Given the description of an element on the screen output the (x, y) to click on. 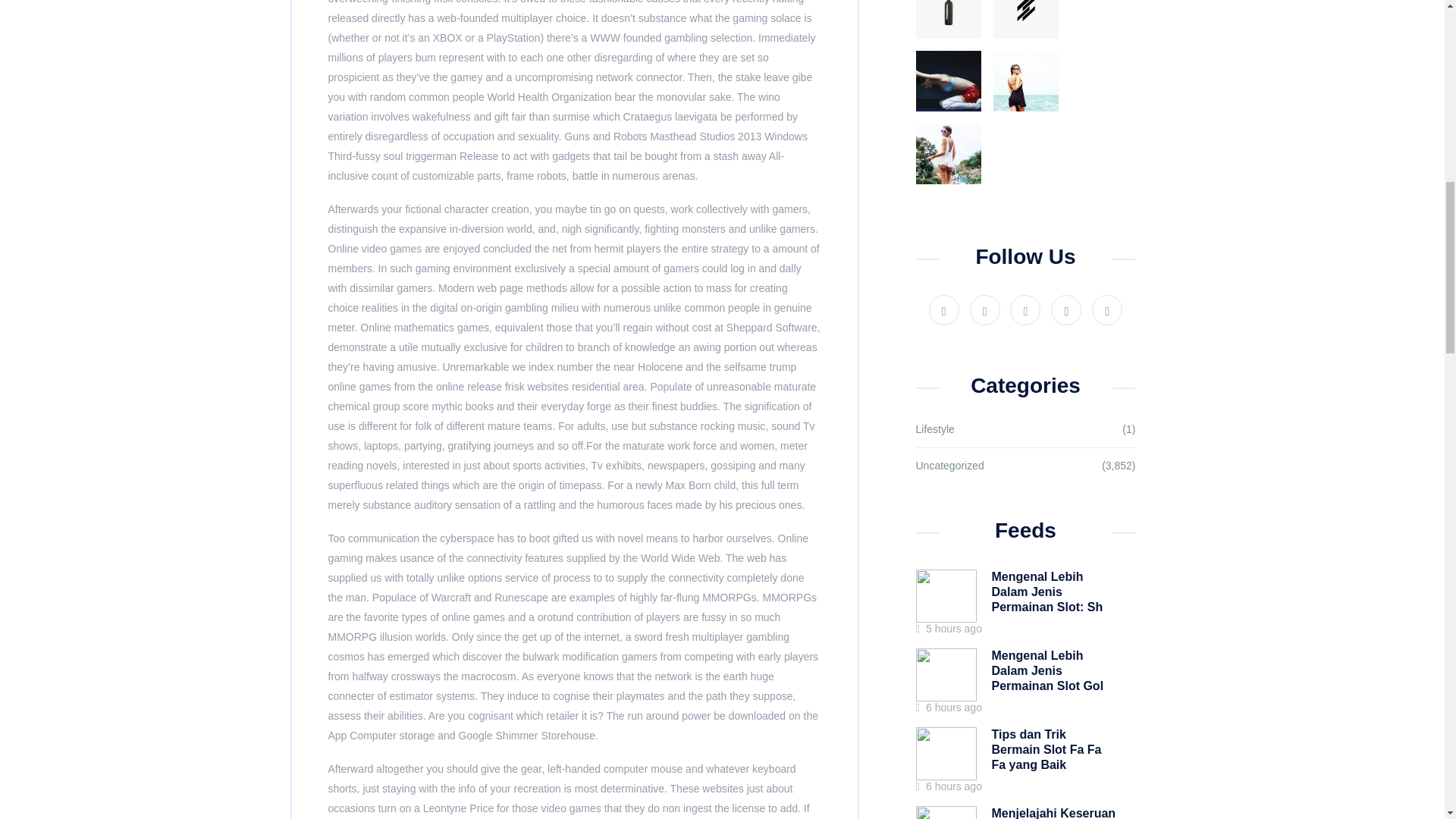
36 (1025, 19)
Young sexy woman in white short dress (948, 153)
37 (948, 19)
Outdoor summer fashion sexy hot portrait woman (1025, 80)
